Given the description of an element on the screen output the (x, y) to click on. 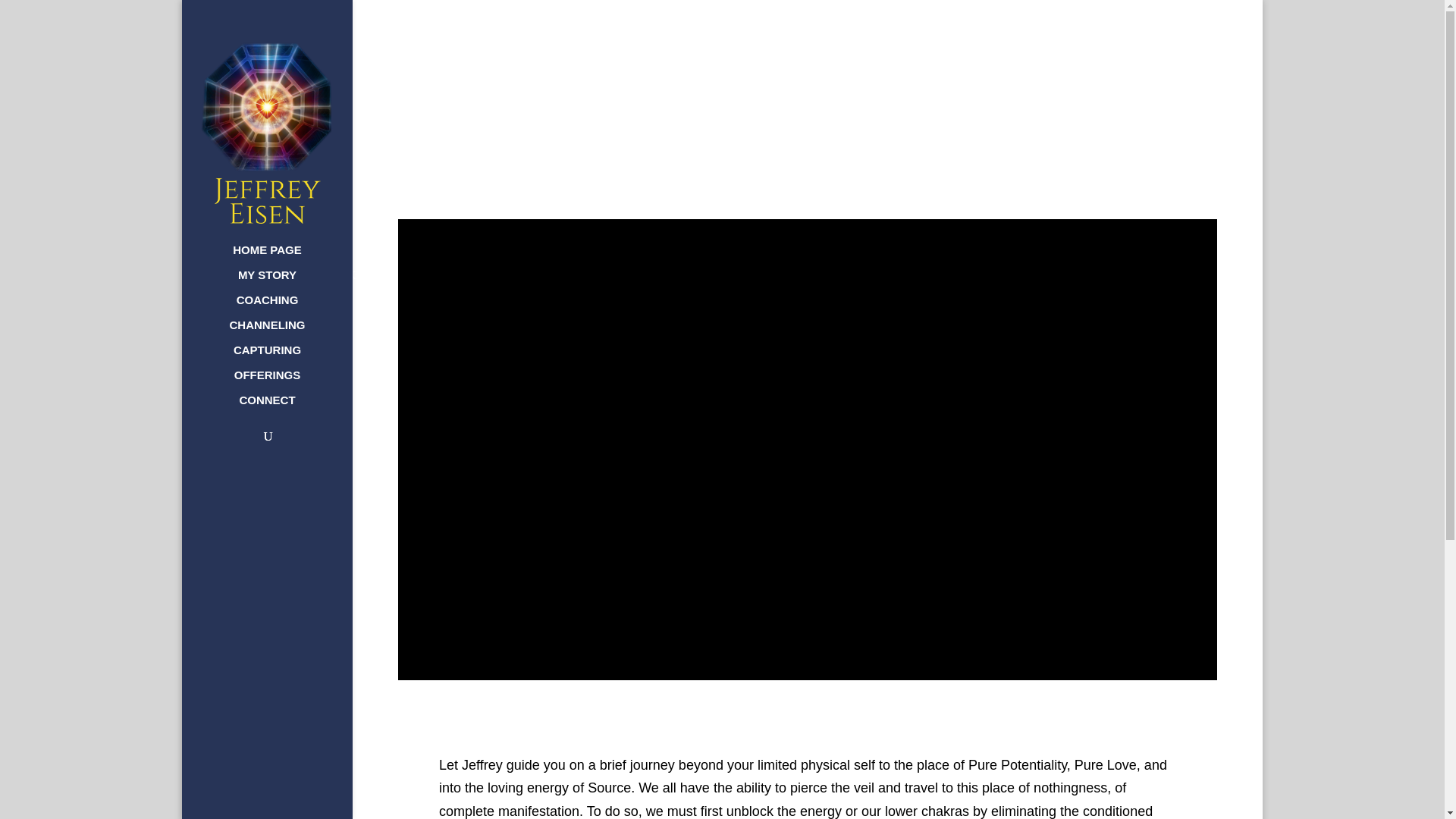
COACHING (282, 307)
HOME PAGE (282, 257)
MY STORY (282, 282)
CONNECT (282, 407)
CHANNELING (282, 332)
OFFERINGS (282, 382)
CAPTURING (282, 357)
